Given the description of an element on the screen output the (x, y) to click on. 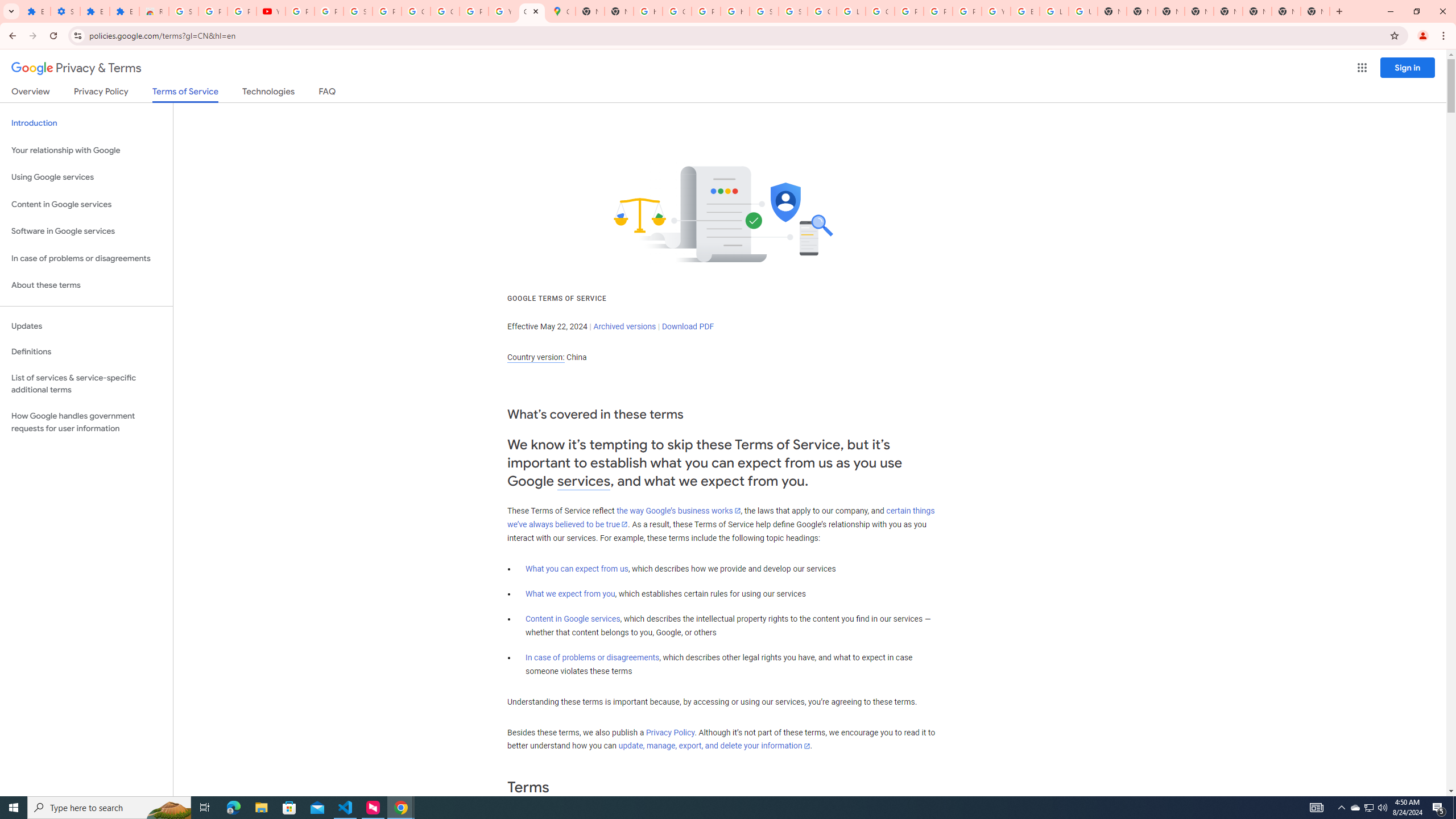
YouTube (271, 11)
Sign in - Google Accounts (357, 11)
Extensions (124, 11)
What we expect from you (570, 593)
Reviews: Helix Fruit Jump Arcade Game (153, 11)
About these terms (86, 284)
